Given the description of an element on the screen output the (x, y) to click on. 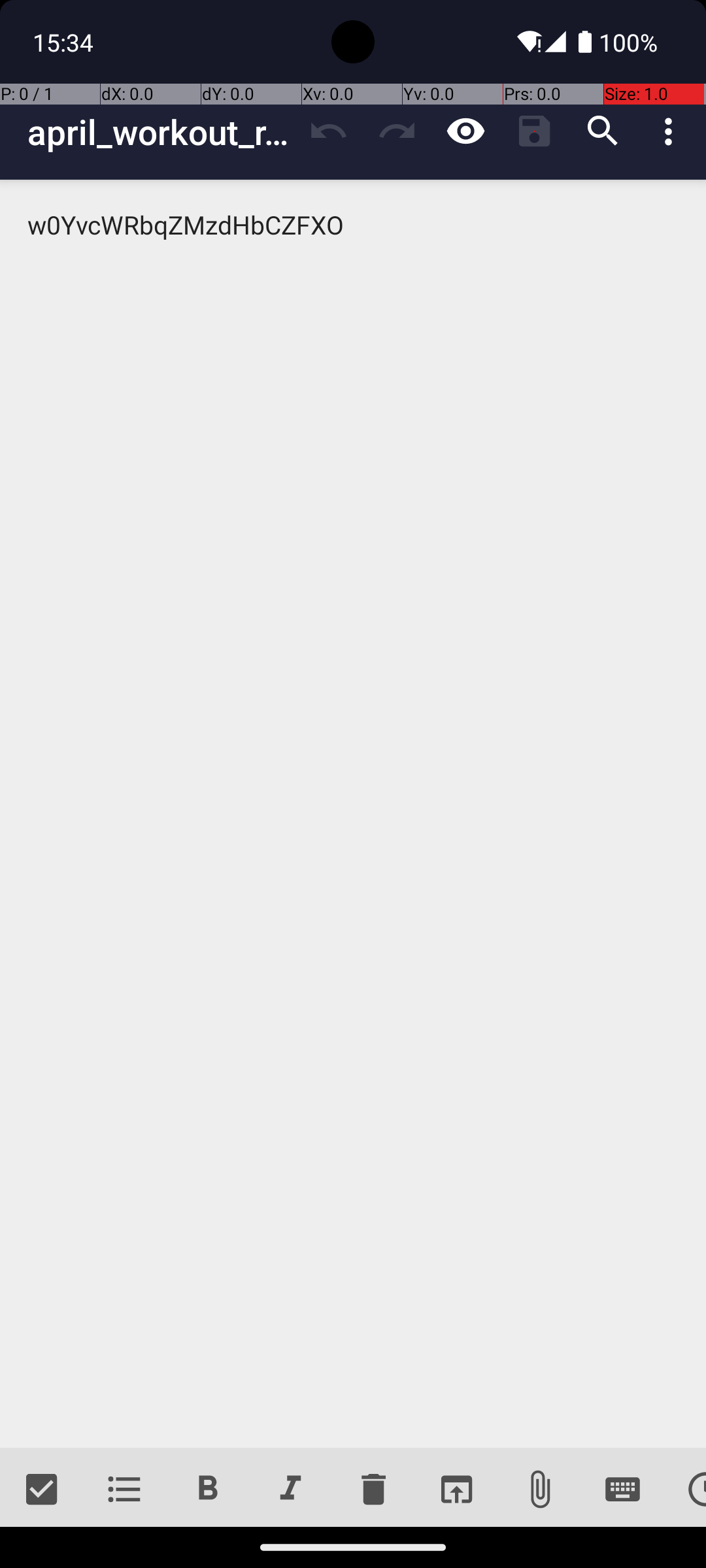
april_workout_routine_backup Element type: android.widget.TextView (160, 131)
w0YvcWRbqZMzdHbCZFXO
 Element type: android.widget.EditText (353, 813)
